Given the description of an element on the screen output the (x, y) to click on. 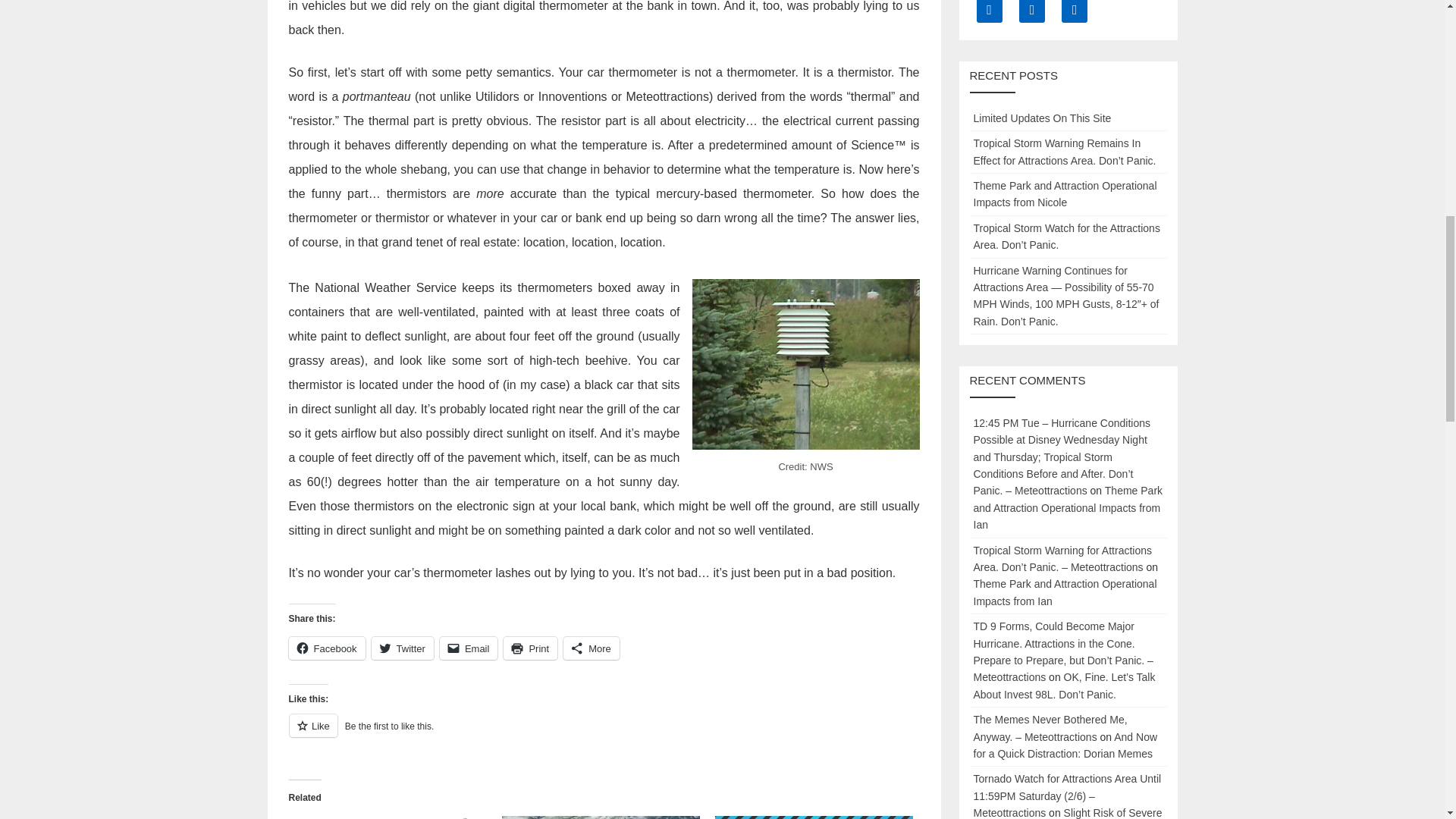
Facebook (326, 648)
May was hot.  Thank you for coming to my TED Talk. (387, 817)
More (591, 648)
Click to print (530, 648)
Click to email a link to a friend (468, 648)
Click to share on Facebook (326, 648)
Click to share on Twitter (402, 648)
Like or Reblog (603, 734)
Email (468, 648)
Print (530, 648)
Twitter (402, 648)
